Given the description of an element on the screen output the (x, y) to click on. 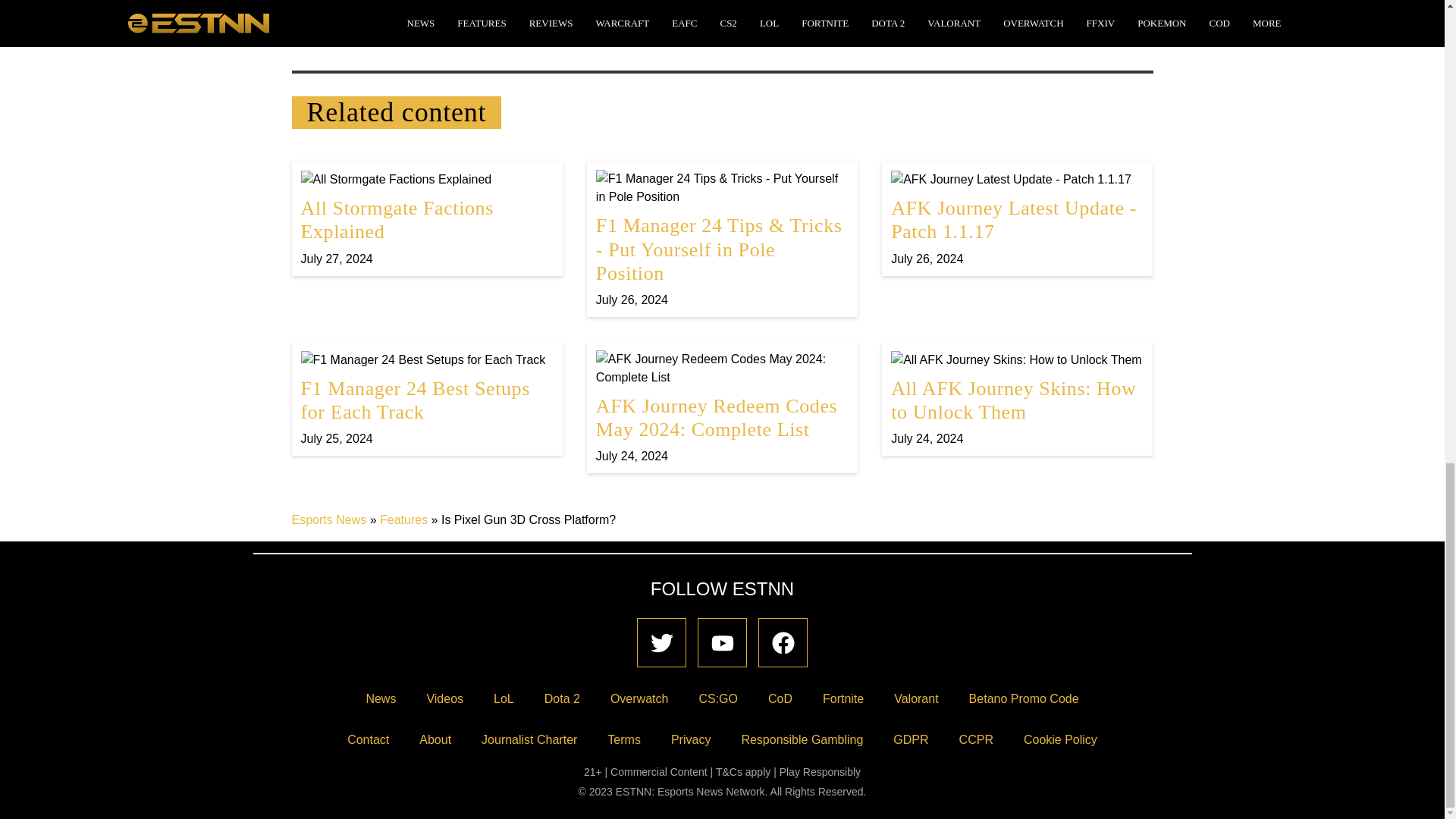
Esports News (328, 519)
All Stormgate Factions Explained (426, 217)
AFK Journey Latest Update - Patch 1.1.17 (426, 398)
F1 Manager 24 Best Setups for Each Track (426, 217)
AFK Journey Redeem Codes May 2024: Complete List (1016, 217)
Features (1016, 217)
All AFK Journey Skins: How to Unlock Them (1016, 398)
